Given the description of an element on the screen output the (x, y) to click on. 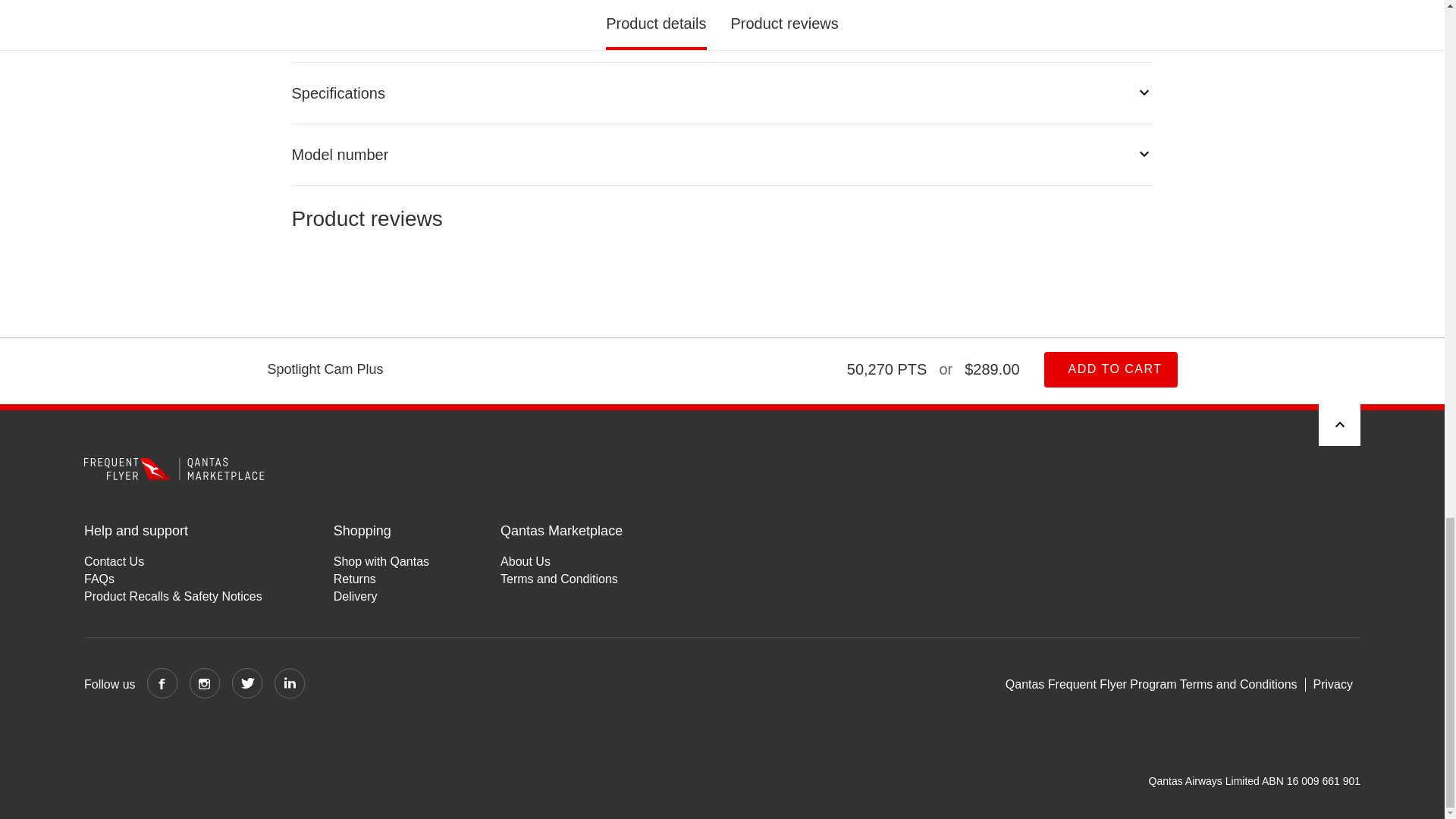
Contact Us (173, 561)
FAQs (173, 579)
Product reviews (722, 270)
